Given the description of an element on the screen output the (x, y) to click on. 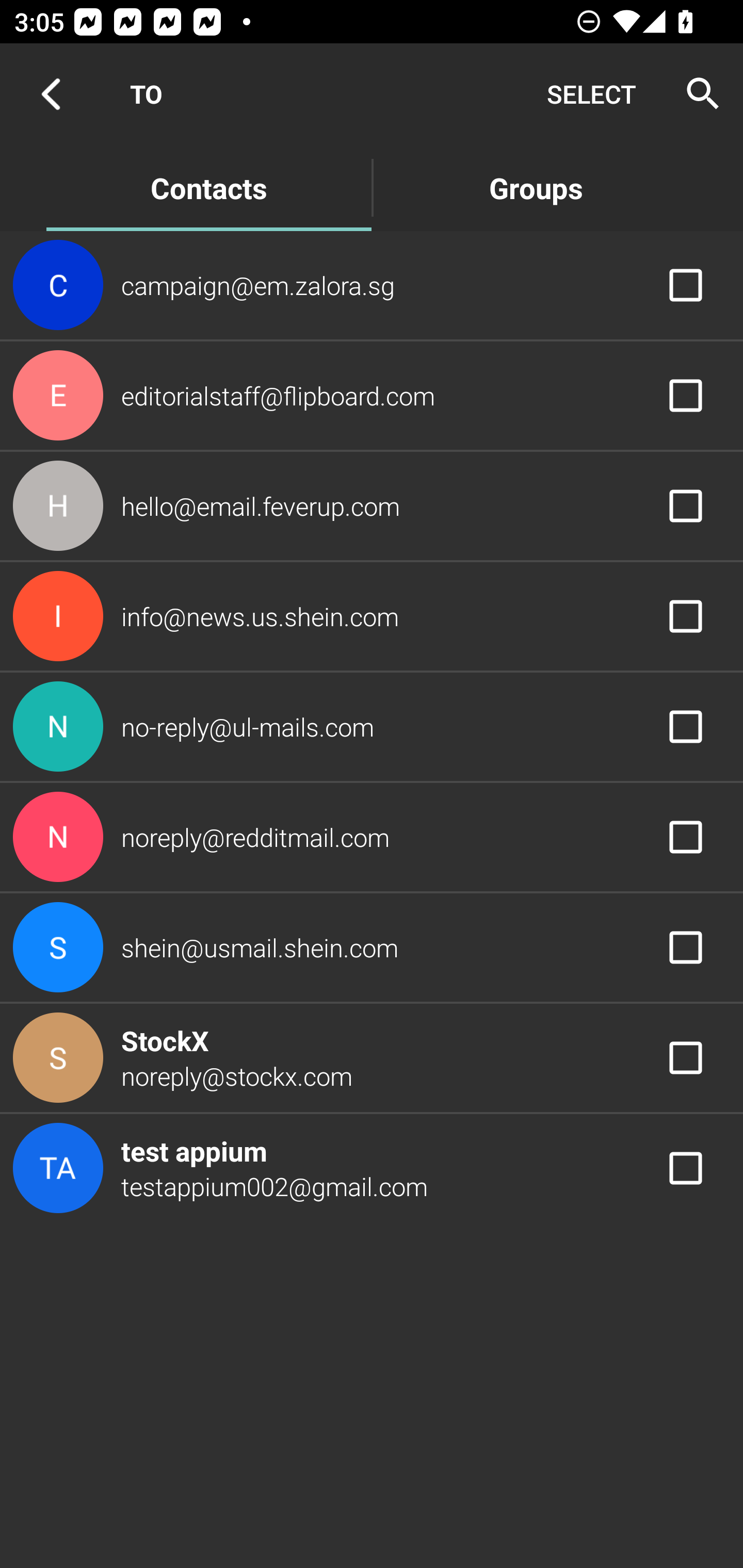
Navigate up (50, 93)
SELECT (590, 93)
Search (696, 93)
Contacts (208, 187)
Groups (535, 187)
campaign@em.zalora.sg (371, 284)
editorialstaff@flipboard.com (371, 395)
hello@email.feverup.com (371, 505)
info@news.us.shein.com (371, 616)
no-reply@ul-mails.com (371, 726)
noreply@redditmail.com (371, 836)
shein@usmail.shein.com (371, 947)
StockX noreply@stockx.com (371, 1057)
test appium testappium002@gmail.com (371, 1168)
